Given the description of an element on the screen output the (x, y) to click on. 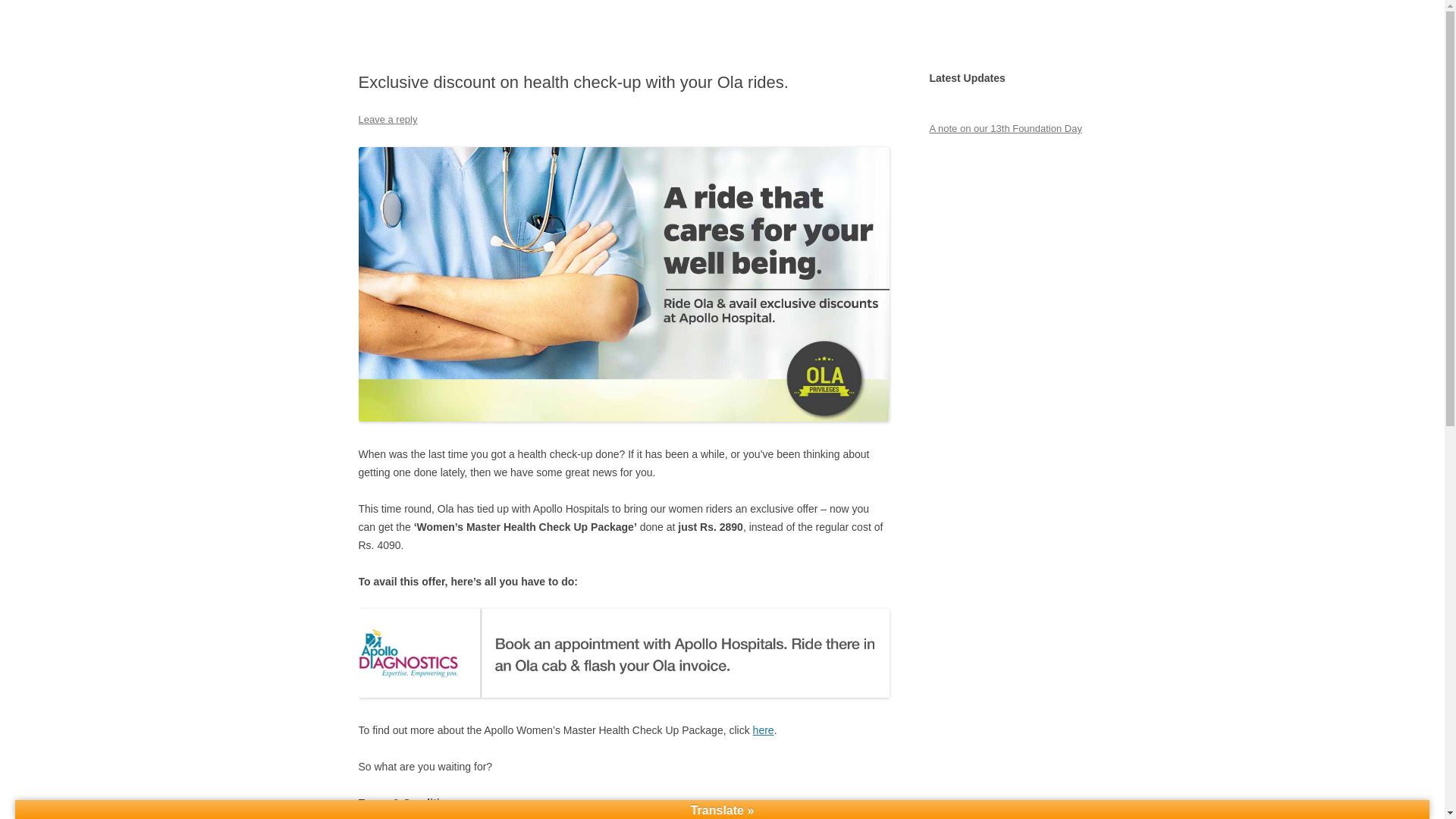
here (763, 729)
Leave a reply (387, 119)
Olacabs Blogs (426, 36)
A note on our 13th Foundation Day (1004, 128)
